Given the description of an element on the screen output the (x, y) to click on. 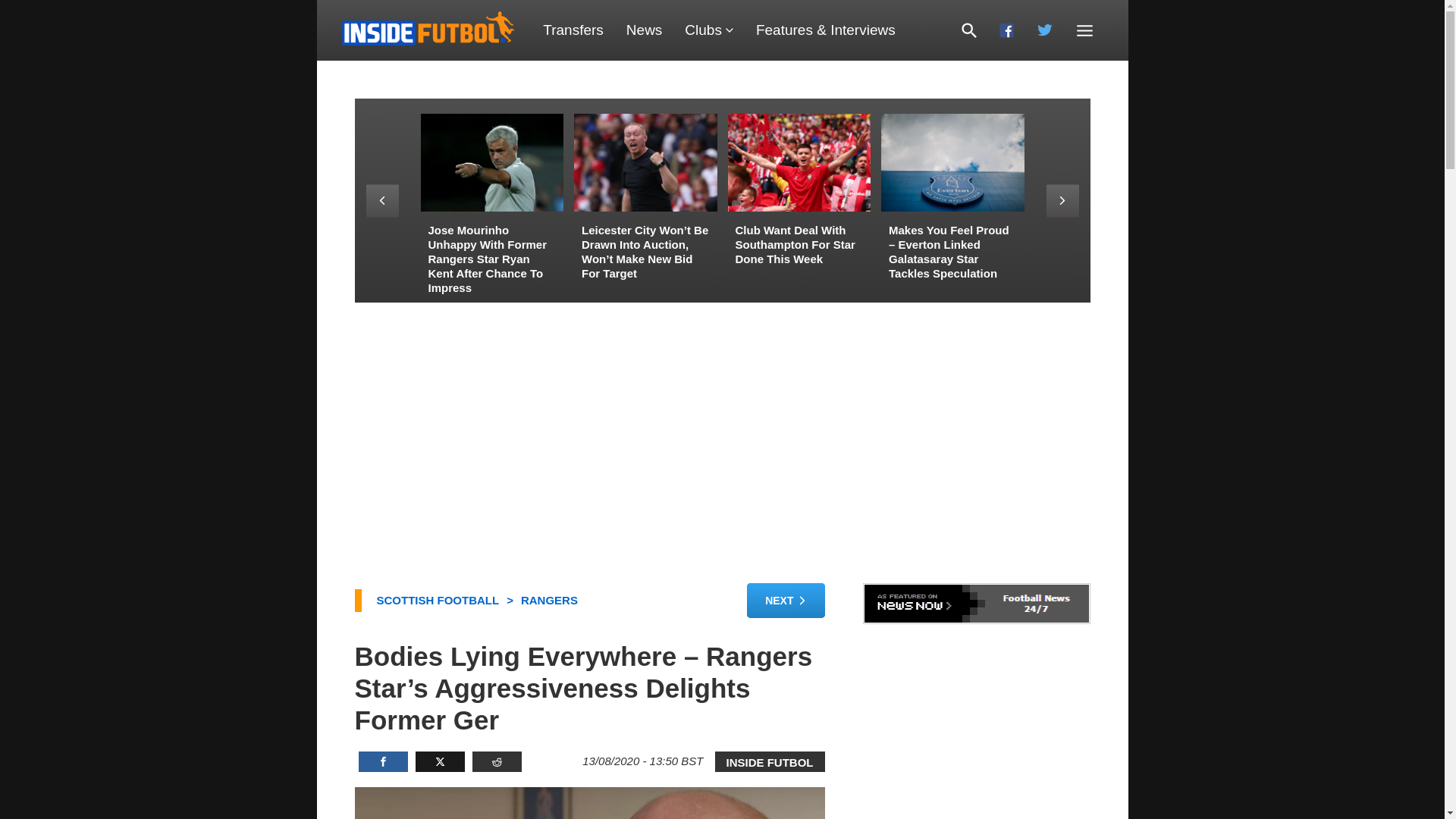
Transfers (572, 30)
News (644, 30)
Clubs (708, 30)
